Given the description of an element on the screen output the (x, y) to click on. 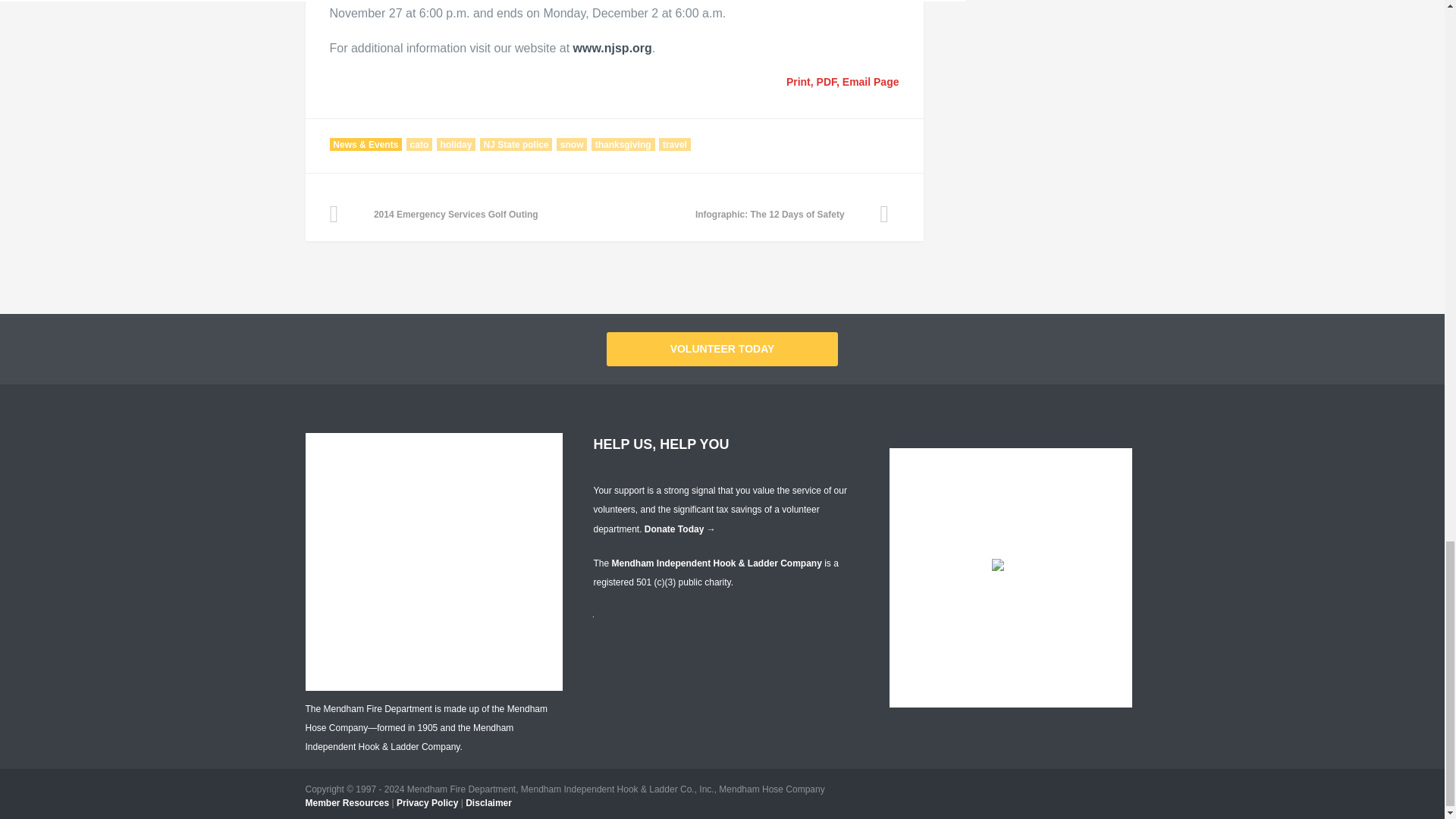
NJ State police (516, 144)
thanksgiving (623, 144)
www.njsp.org (612, 47)
cato (419, 144)
NJ State Police (612, 47)
snow (571, 144)
holiday (456, 144)
Print, PDF, Email Page (839, 81)
